Given the description of an element on the screen output the (x, y) to click on. 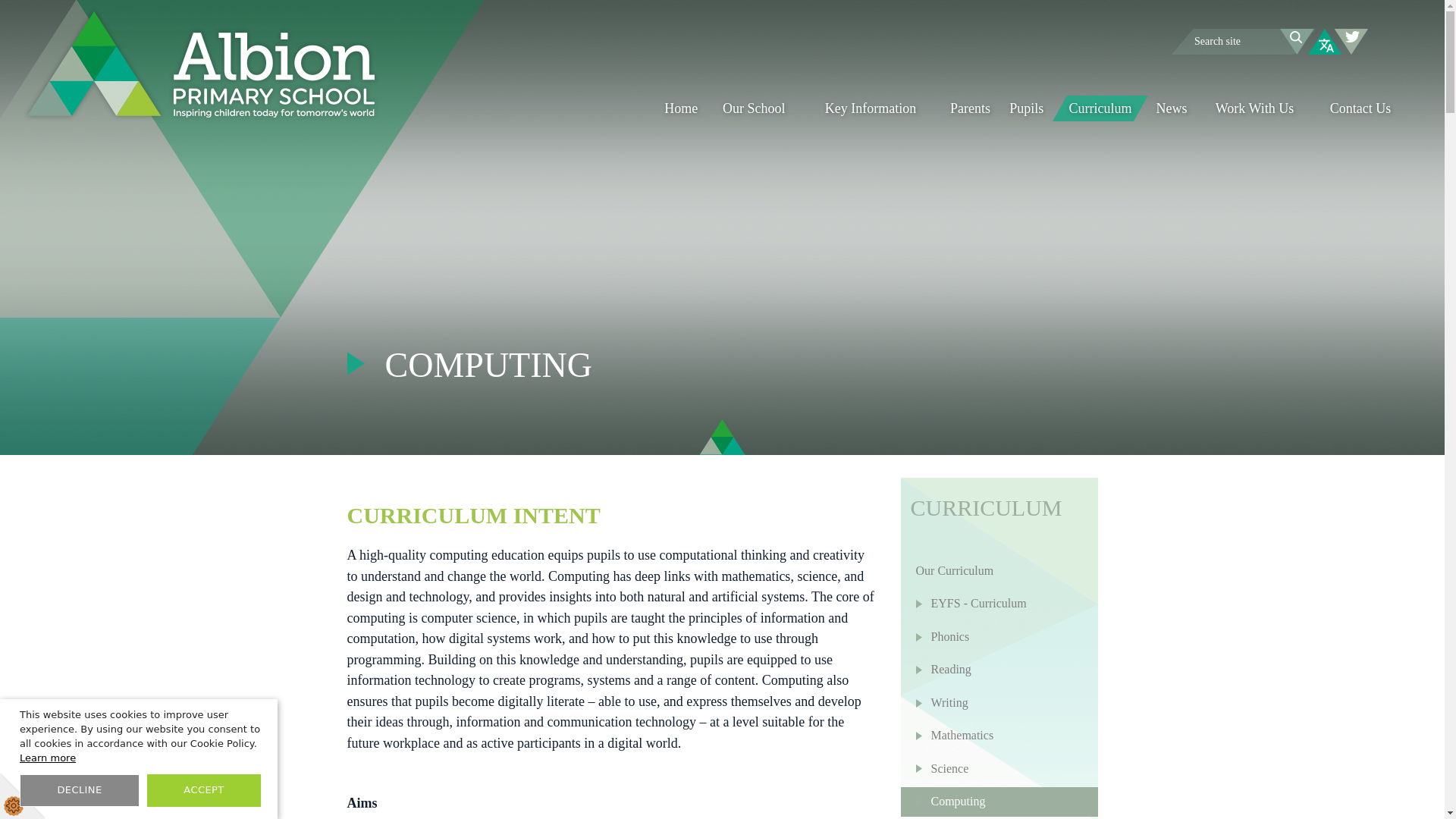
Our School (754, 108)
Key Information (871, 108)
Home (681, 108)
Search site (1244, 41)
